Given the description of an element on the screen output the (x, y) to click on. 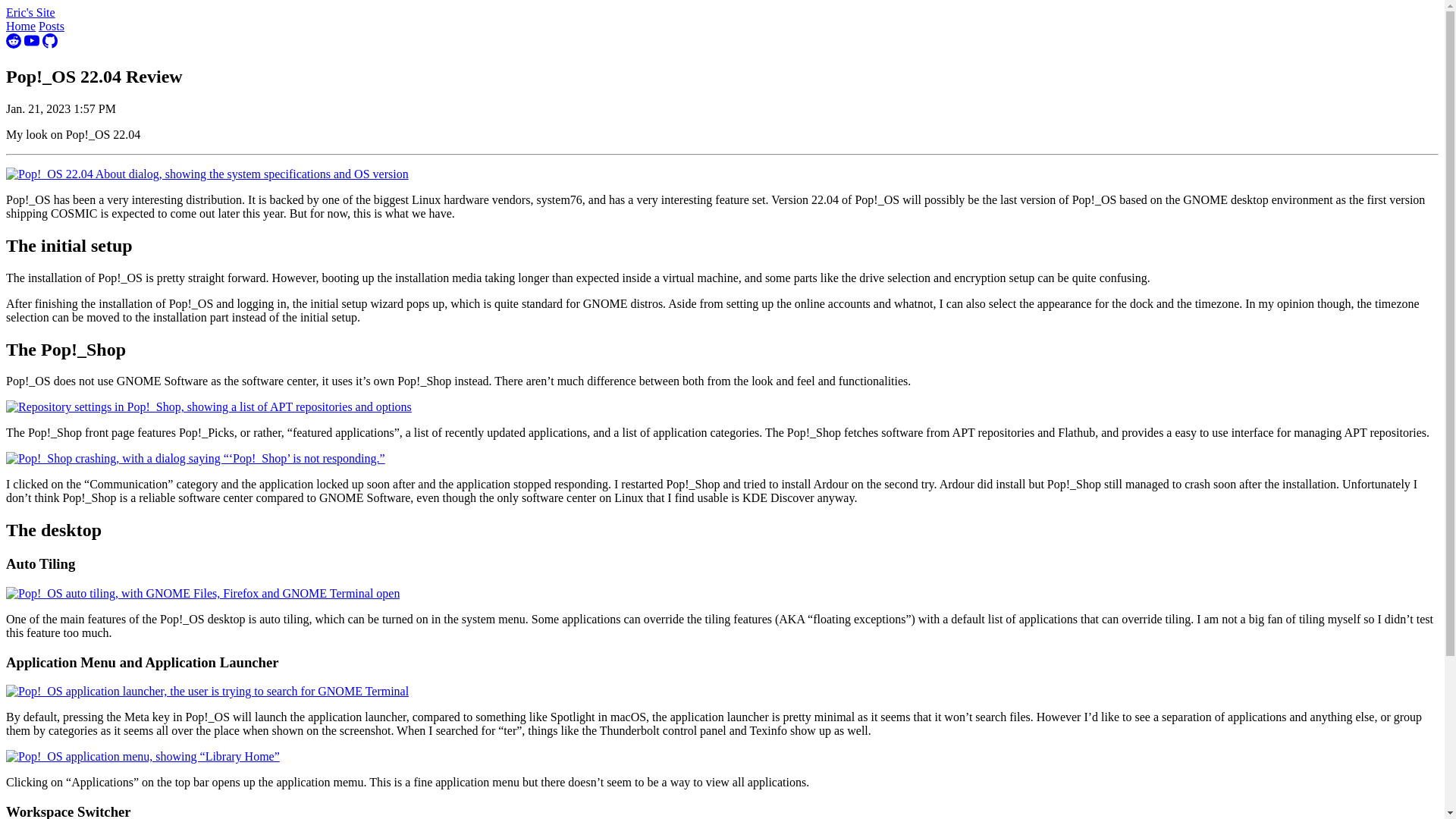
Posts (51, 25)
GitHub (50, 43)
Reddit (13, 43)
Eric's Site (30, 11)
YouTube (31, 43)
Home (19, 25)
Reddit (13, 40)
GitHub (50, 40)
YouTube (31, 40)
